Given the description of an element on the screen output the (x, y) to click on. 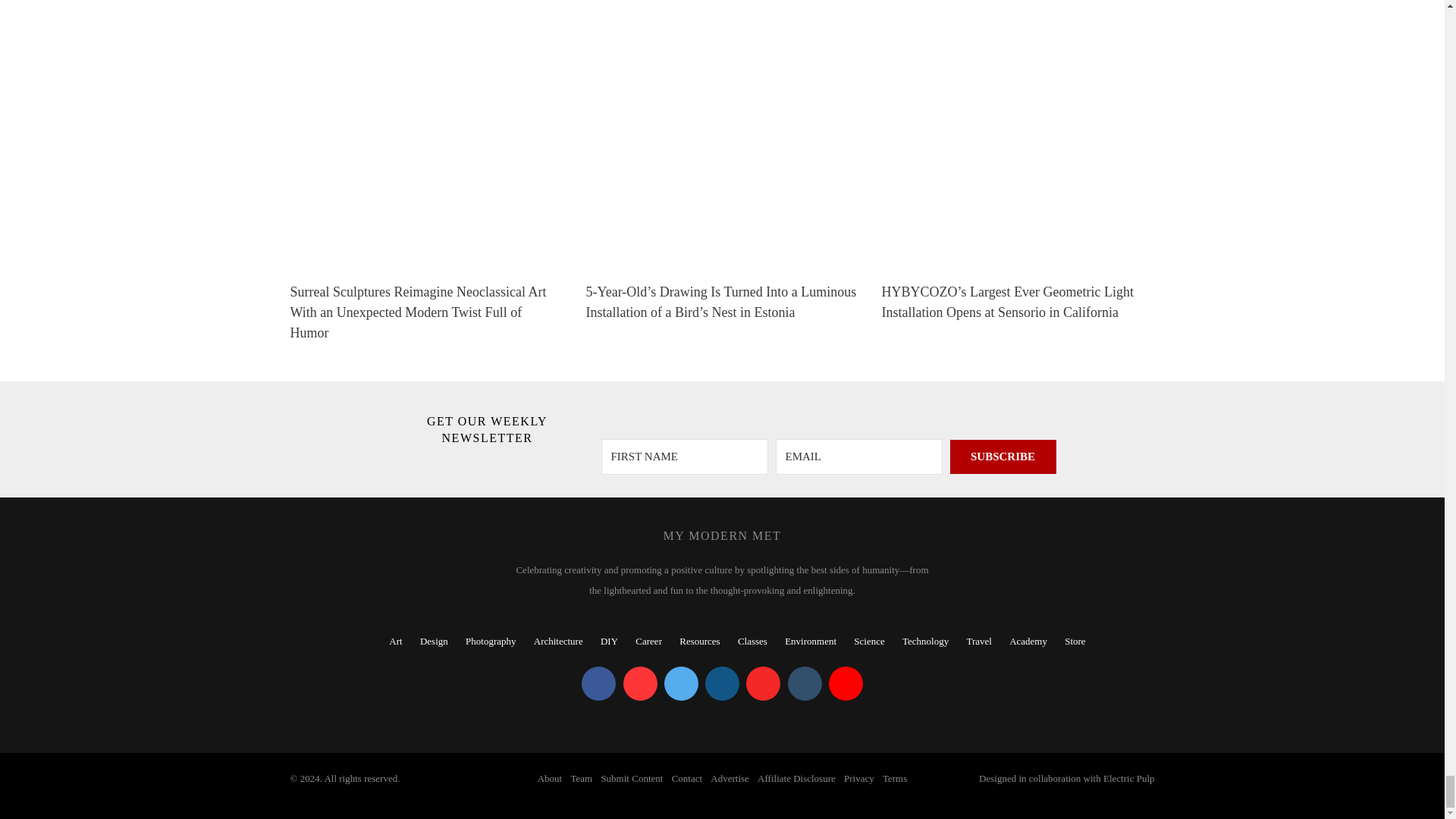
My Modern Met on Twitter (680, 683)
My Modern Met on Facebook (597, 683)
My Modern Met on Pinterest (640, 683)
My Modern Met on Tumblr (804, 683)
My Modern Met on YouTube (845, 683)
My Modern Met on Instagram (721, 683)
